Given the description of an element on the screen output the (x, y) to click on. 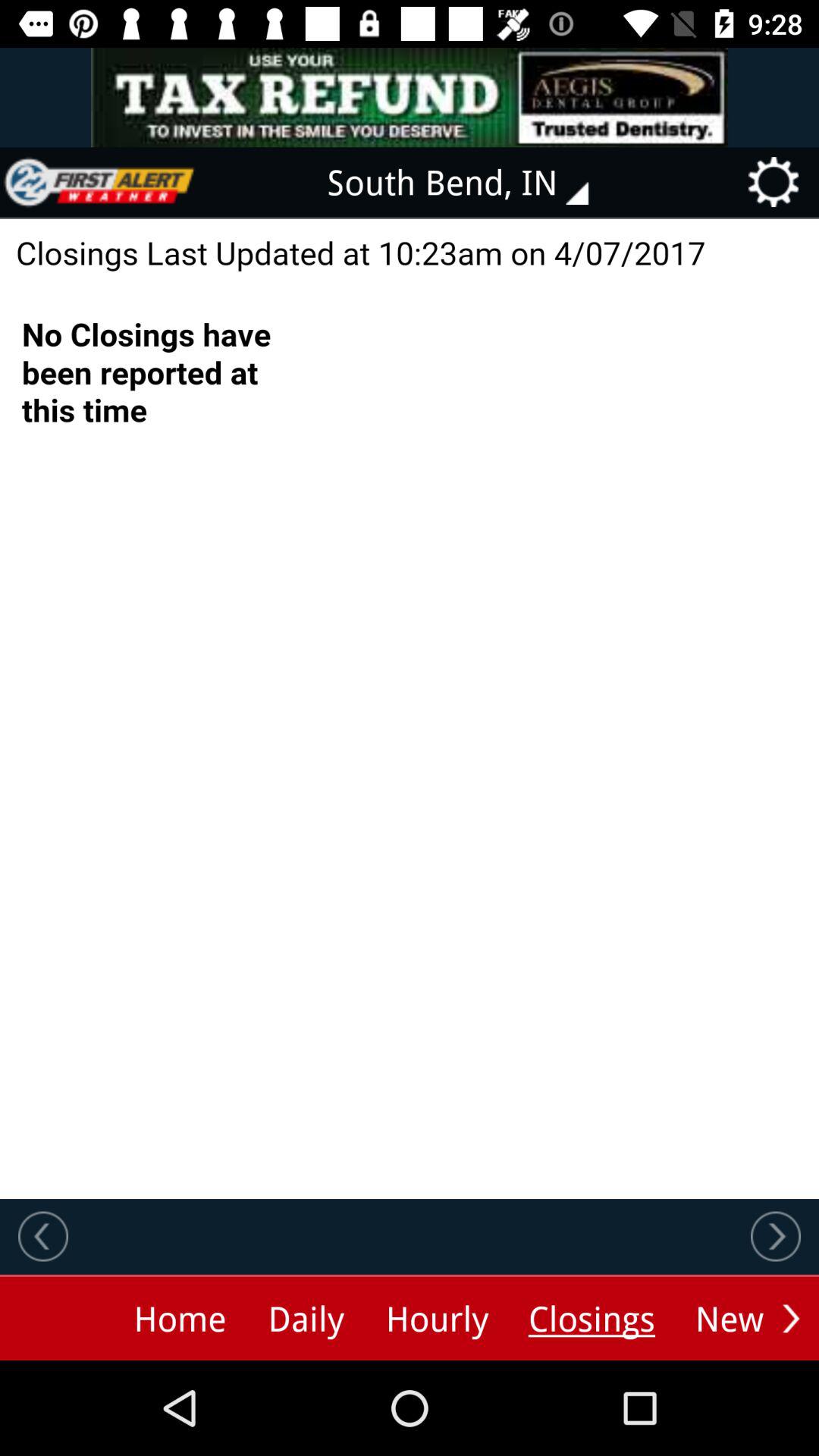
launch south bend, in item (468, 182)
